Given the description of an element on the screen output the (x, y) to click on. 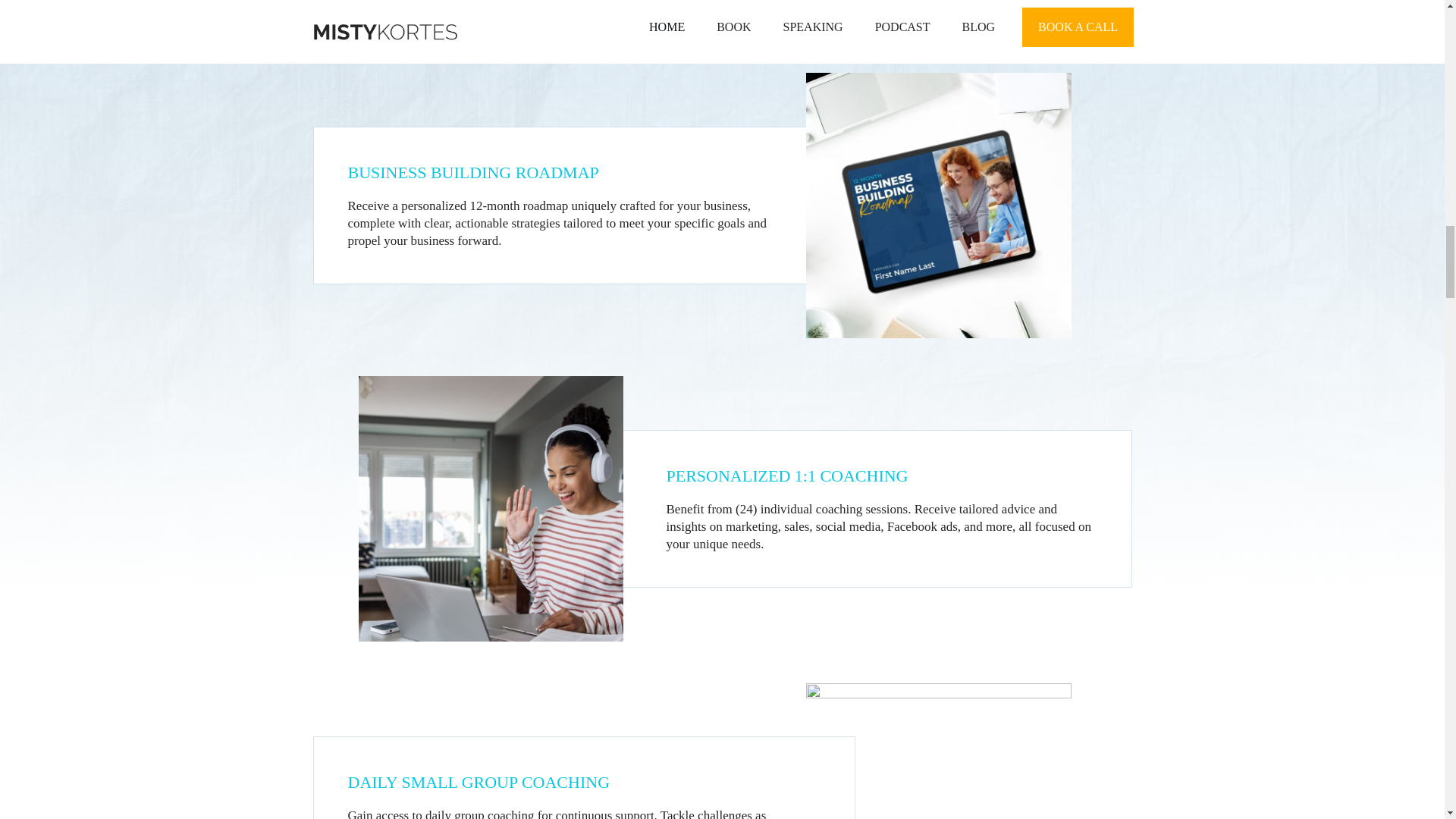
BUSINESS BUILDING ROADMAP (938, 205)
DAILY SMALL GROUP COACHING (938, 750)
